Given the description of an element on the screen output the (x, y) to click on. 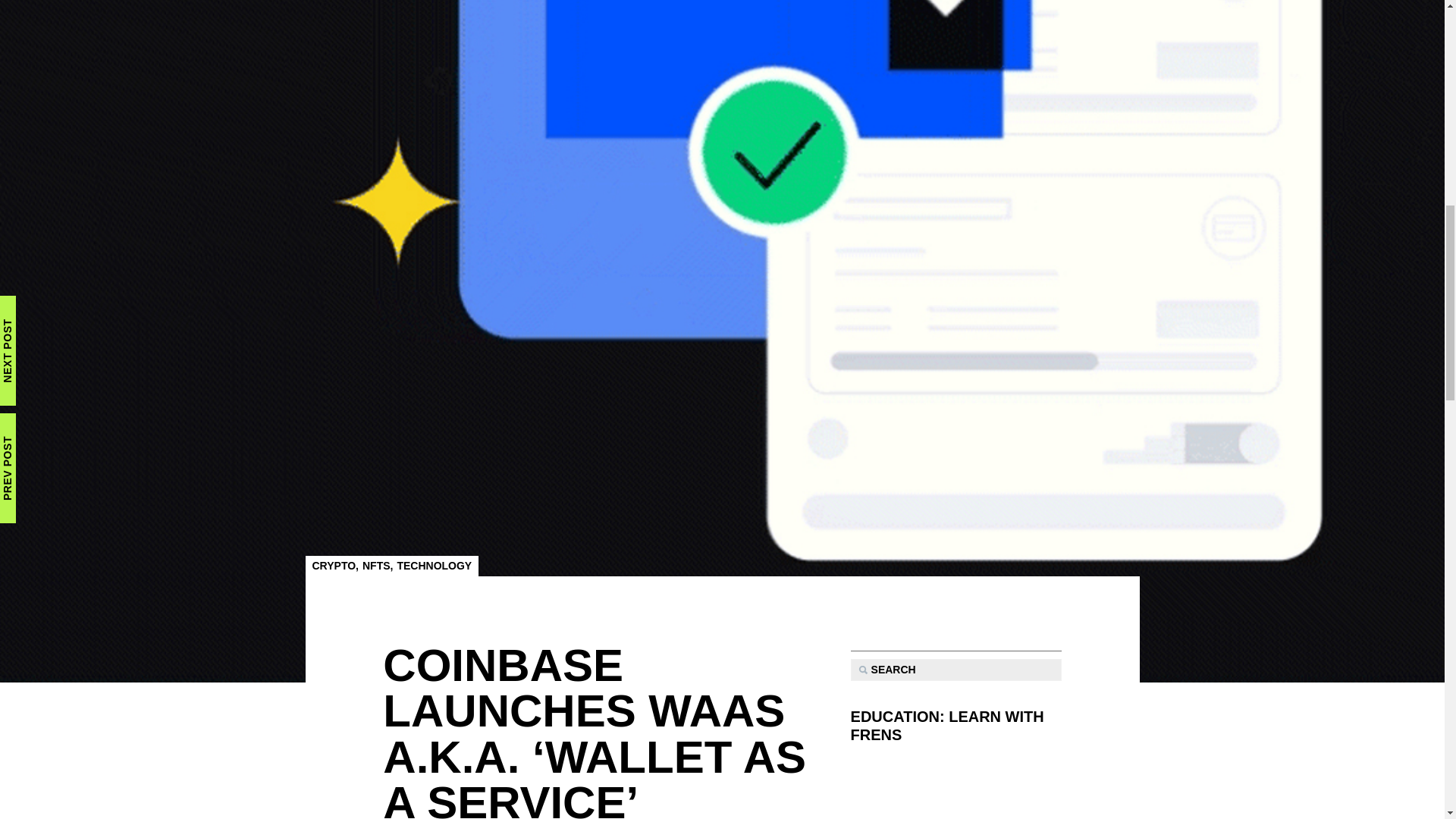
TECHNOLOGY (433, 565)
CRYPTO (334, 565)
NFTS (376, 565)
